Given the description of an element on the screen output the (x, y) to click on. 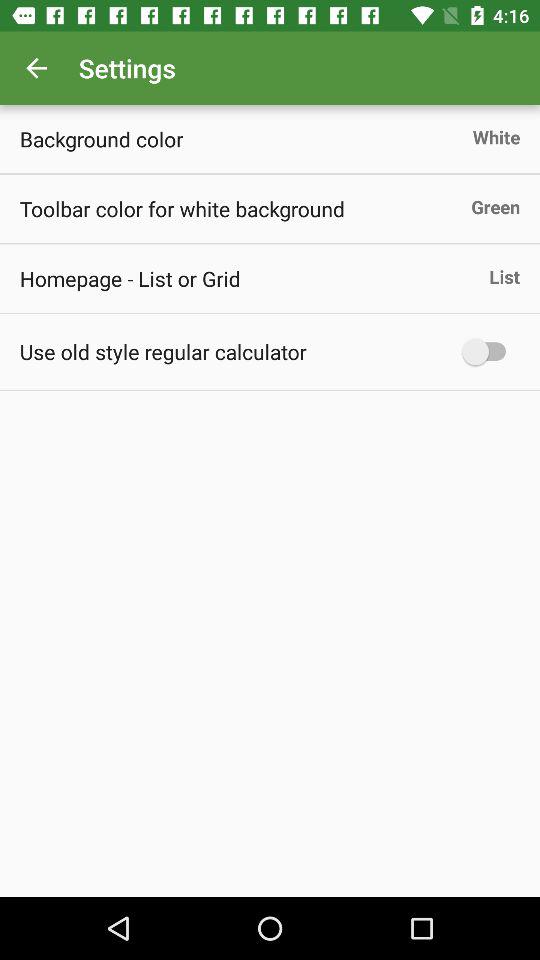
open the item on the right (488, 351)
